Given the description of an element on the screen output the (x, y) to click on. 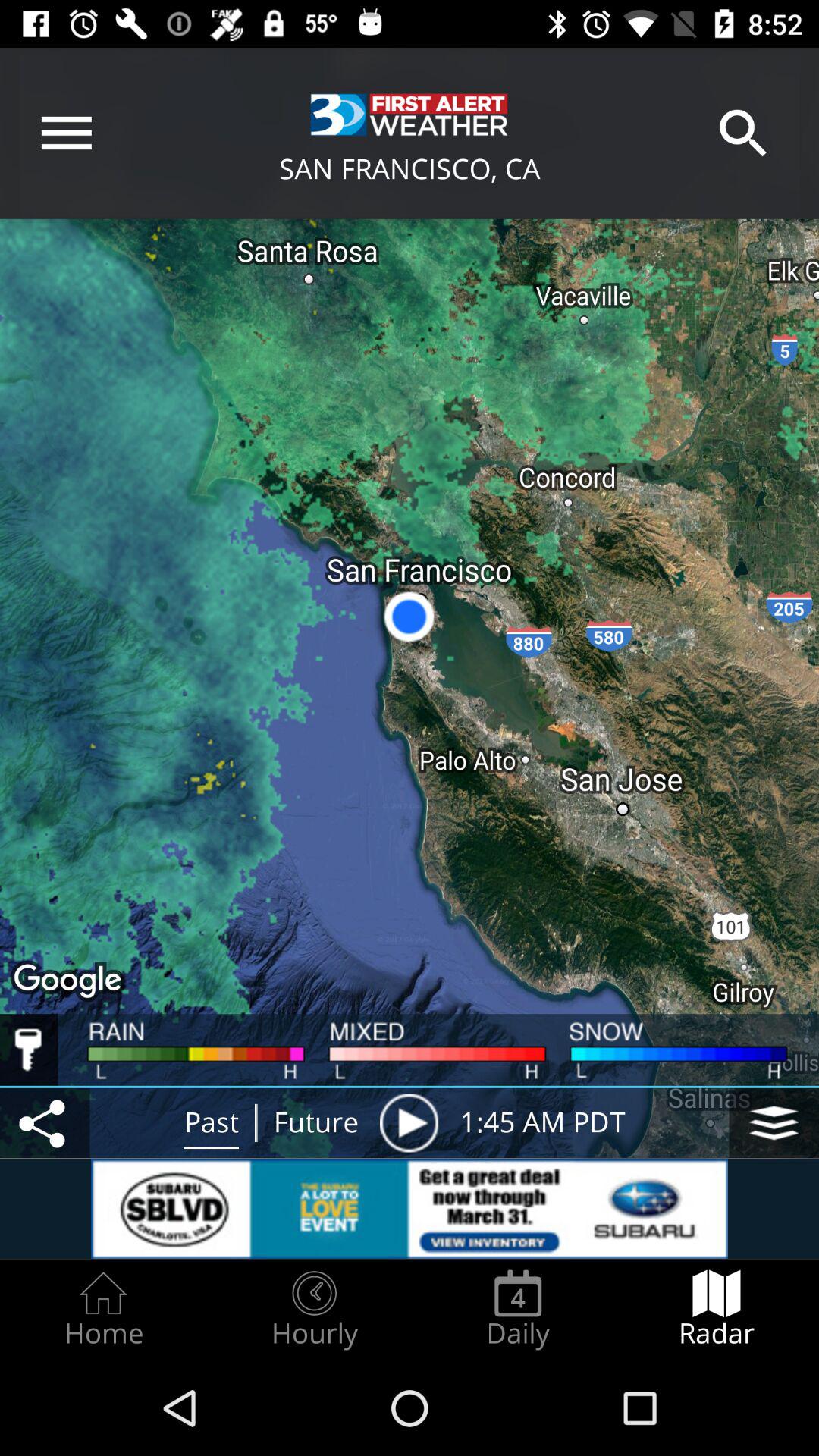
share button (44, 1122)
